Given the description of an element on the screen output the (x, y) to click on. 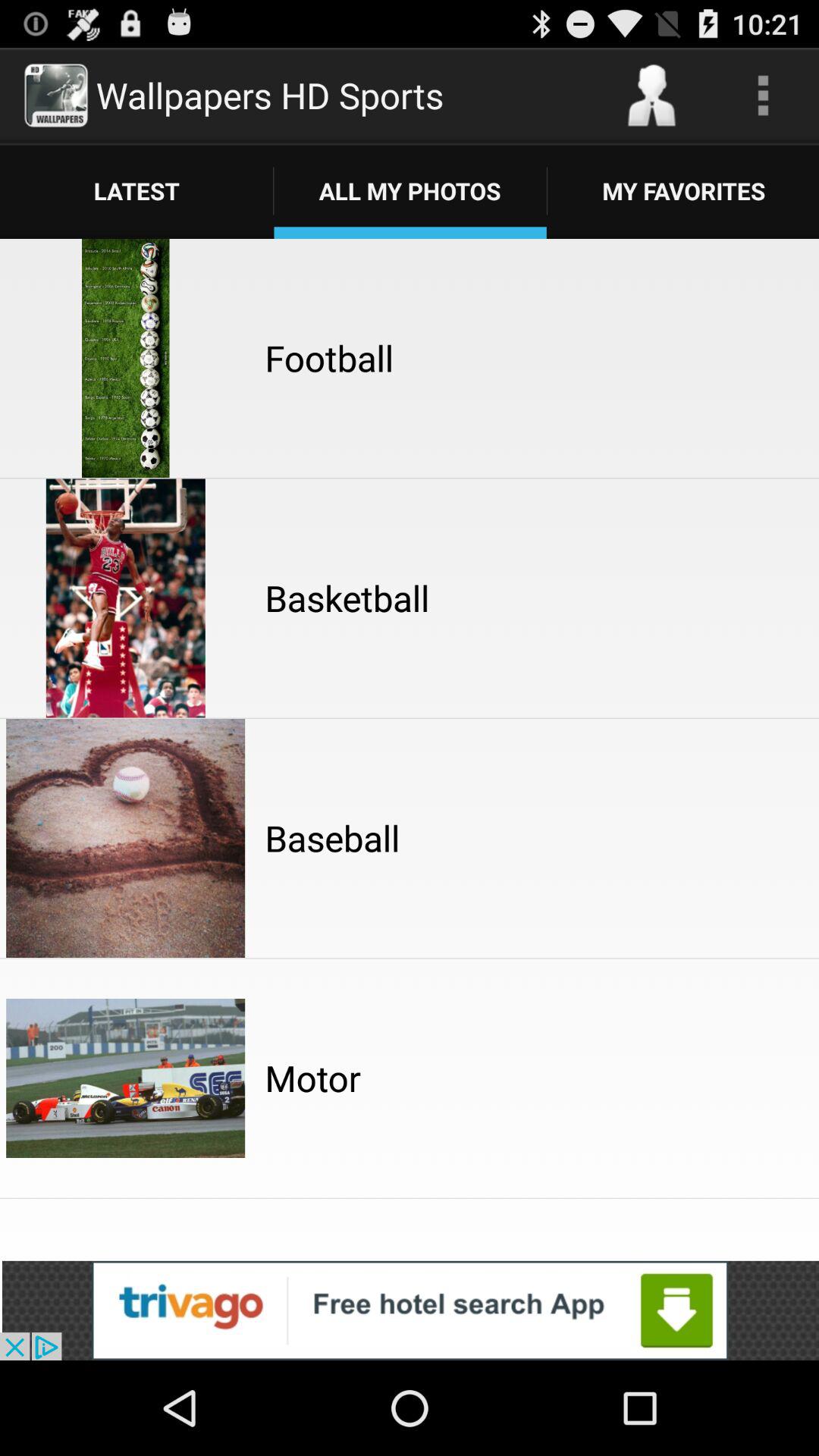
menu button (763, 95)
